Given the description of an element on the screen output the (x, y) to click on. 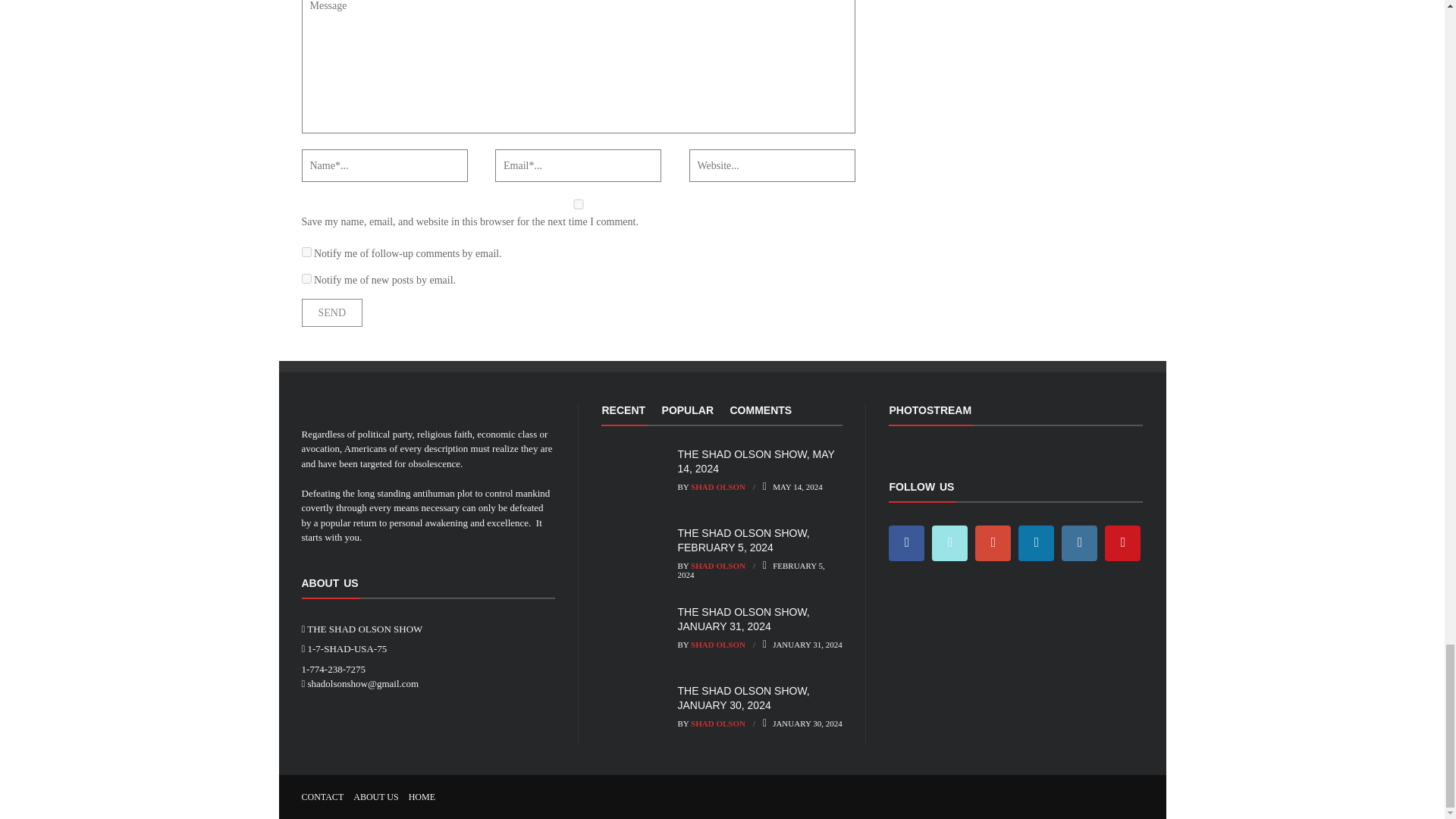
subscribe (306, 278)
subscribe (306, 252)
Send (331, 312)
yes (578, 204)
